Given the description of an element on the screen output the (x, y) to click on. 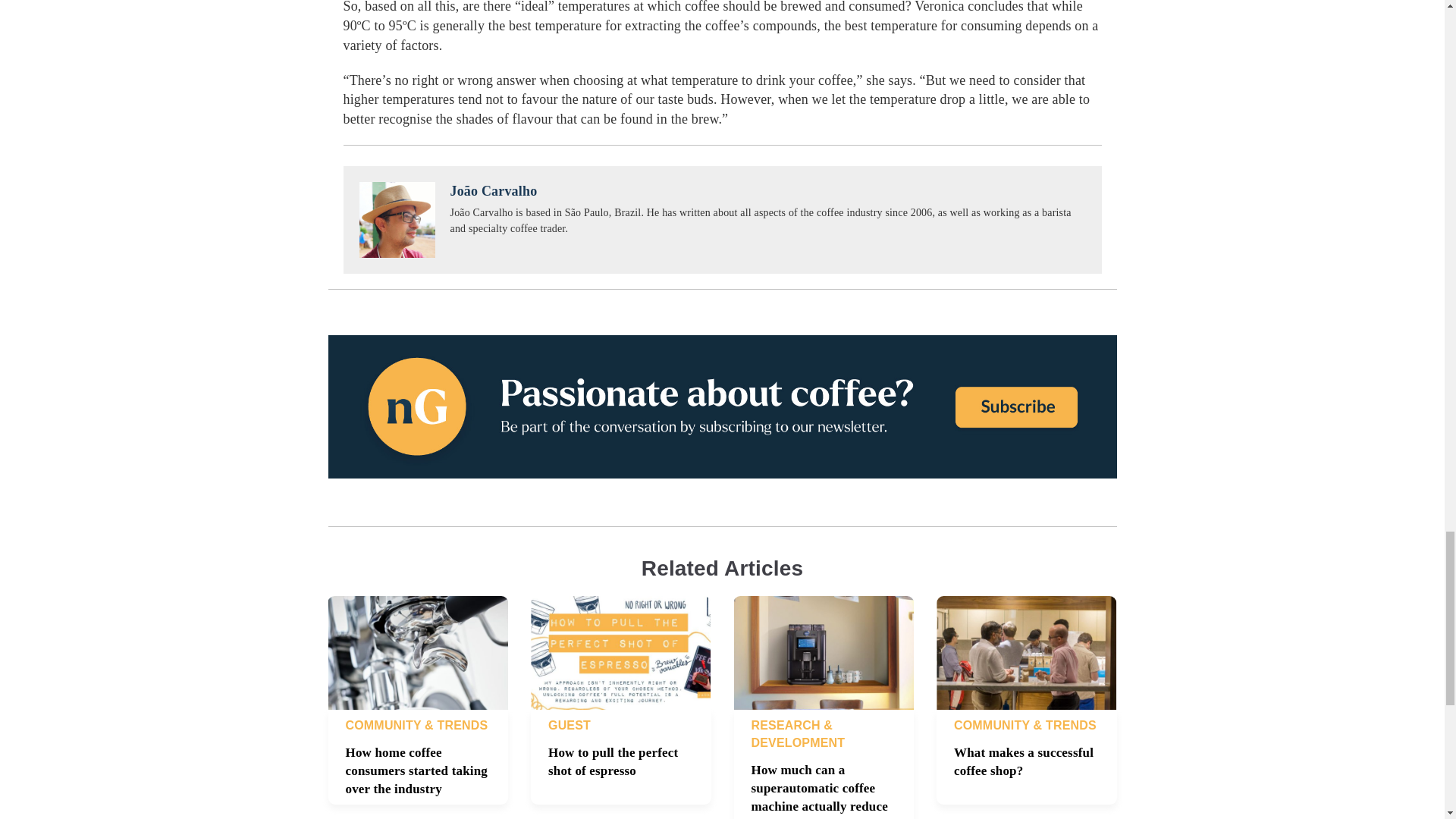
How home coffee consumers started taking over the industry (416, 770)
How to pull the perfect shot of espresso (613, 761)
